Given the description of an element on the screen output the (x, y) to click on. 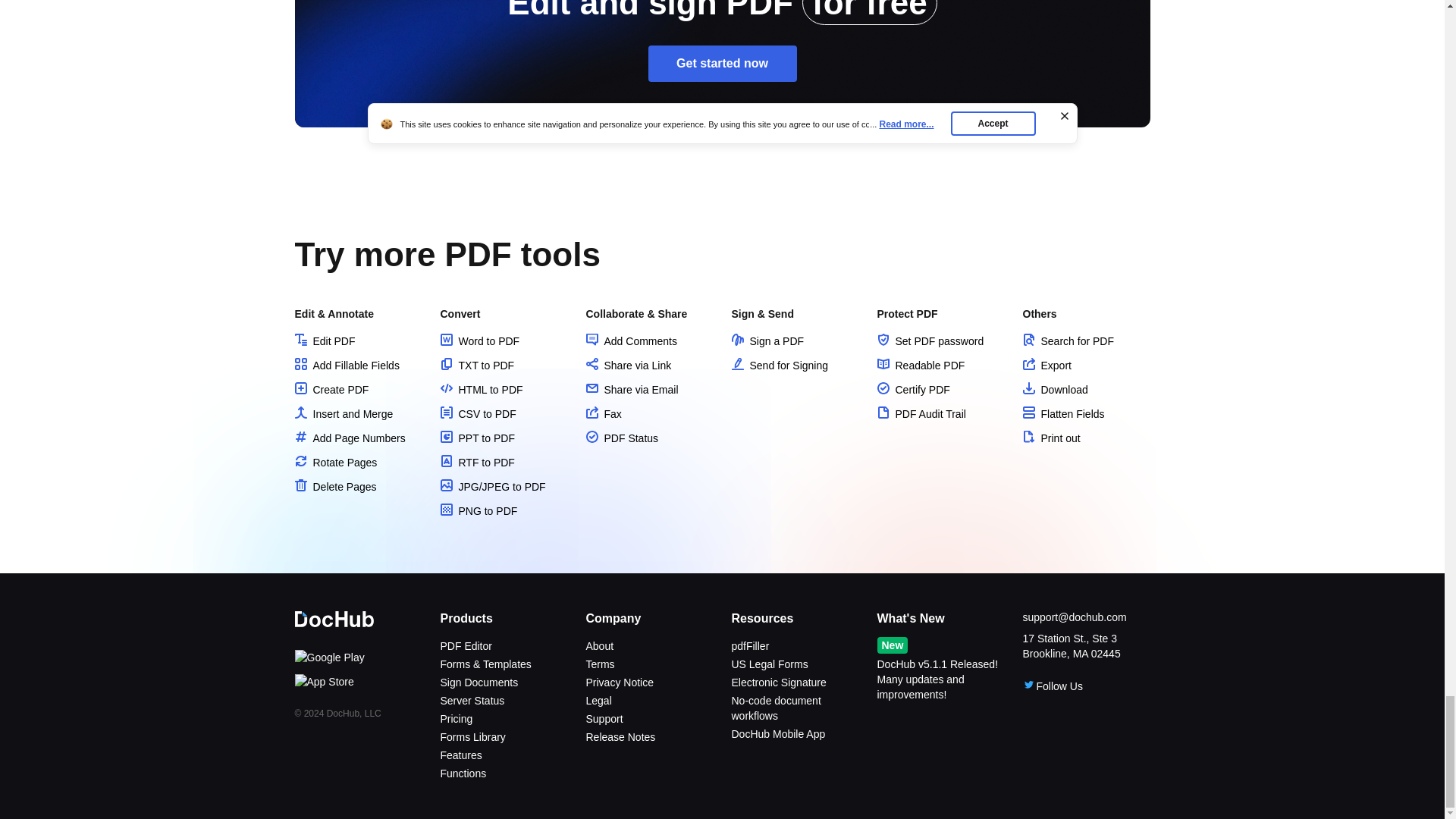
Fax (603, 413)
CSV to PDF (477, 413)
PPT to PDF (476, 438)
Share via Link (628, 365)
Delete Pages (334, 486)
Edit PDF (324, 340)
Insert and Merge (343, 413)
PNG to PDF (477, 510)
Get started now (721, 63)
Create PDF (331, 389)
Add Page Numbers (349, 438)
HTML to PDF (480, 389)
Add Comments (631, 340)
TXT to PDF (476, 365)
Add Fillable Fields (346, 365)
